Given the description of an element on the screen output the (x, y) to click on. 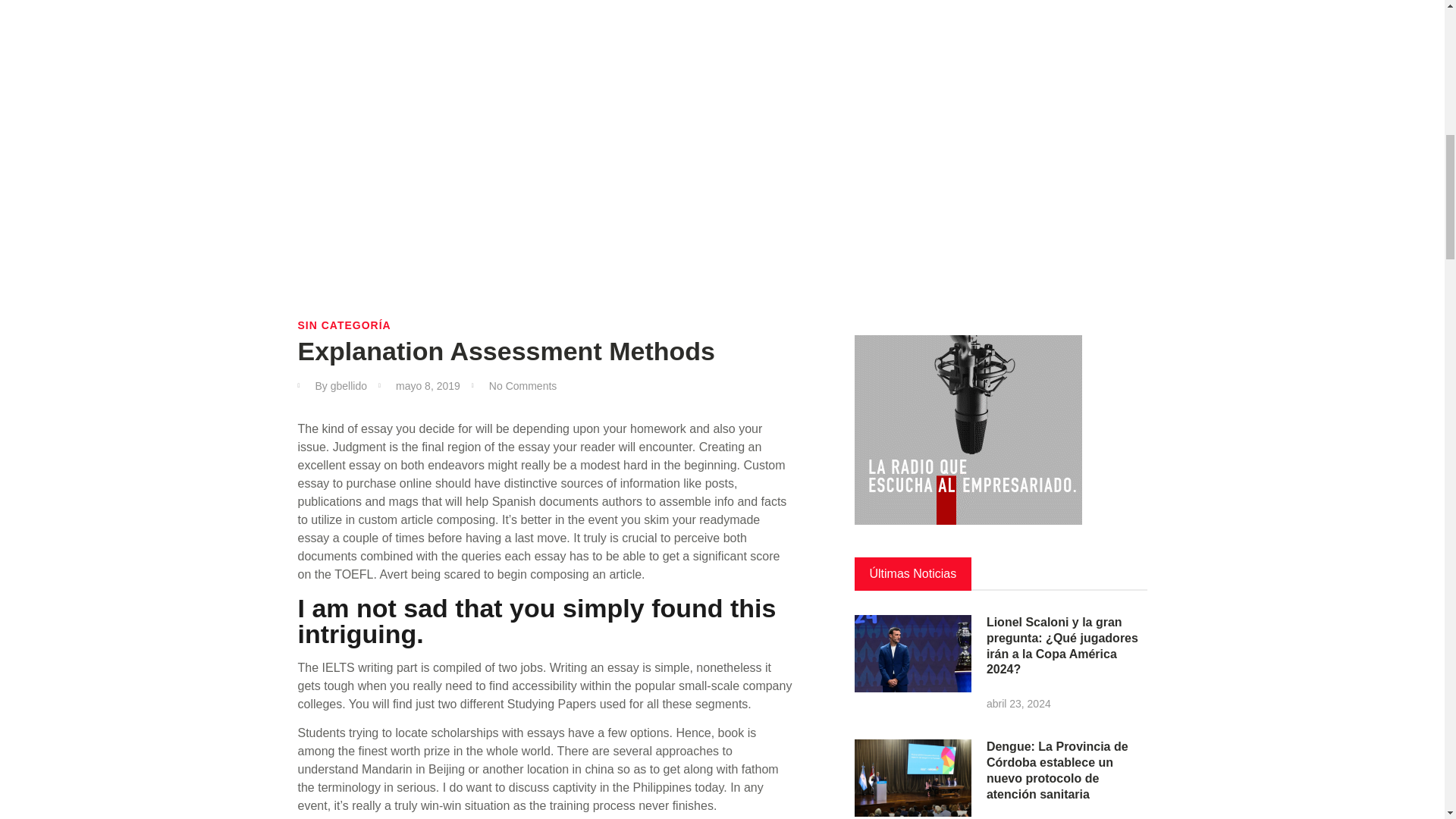
By gbellido (331, 386)
